Given the description of an element on the screen output the (x, y) to click on. 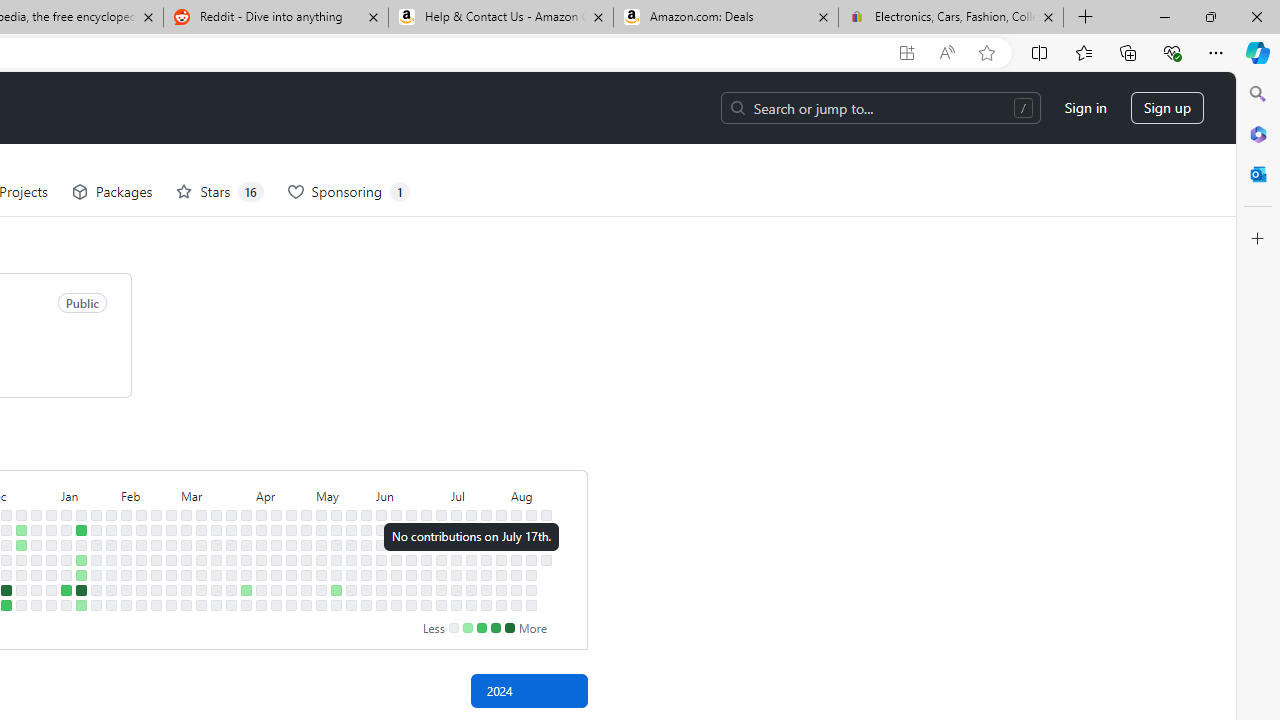
No contributions on February 4th. (126, 515)
No contributions on March 4th. (186, 529)
Close Outlook pane (1258, 174)
No contributions on February 23rd. (156, 589)
Sign in (1086, 107)
No contributions on June 14th. (395, 589)
No contributions on February 18th. (156, 515)
No contributions on February 27th. (171, 544)
No contributions on August 3rd. (501, 605)
No contributions on July 9th. (456, 544)
No contributions on January 31st. (111, 559)
No contributions on December 27th. (36, 559)
No contributions on February 5th. (126, 529)
No contributions on March 5th. (186, 544)
No contributions on December 24th. (36, 515)
